Given the description of an element on the screen output the (x, y) to click on. 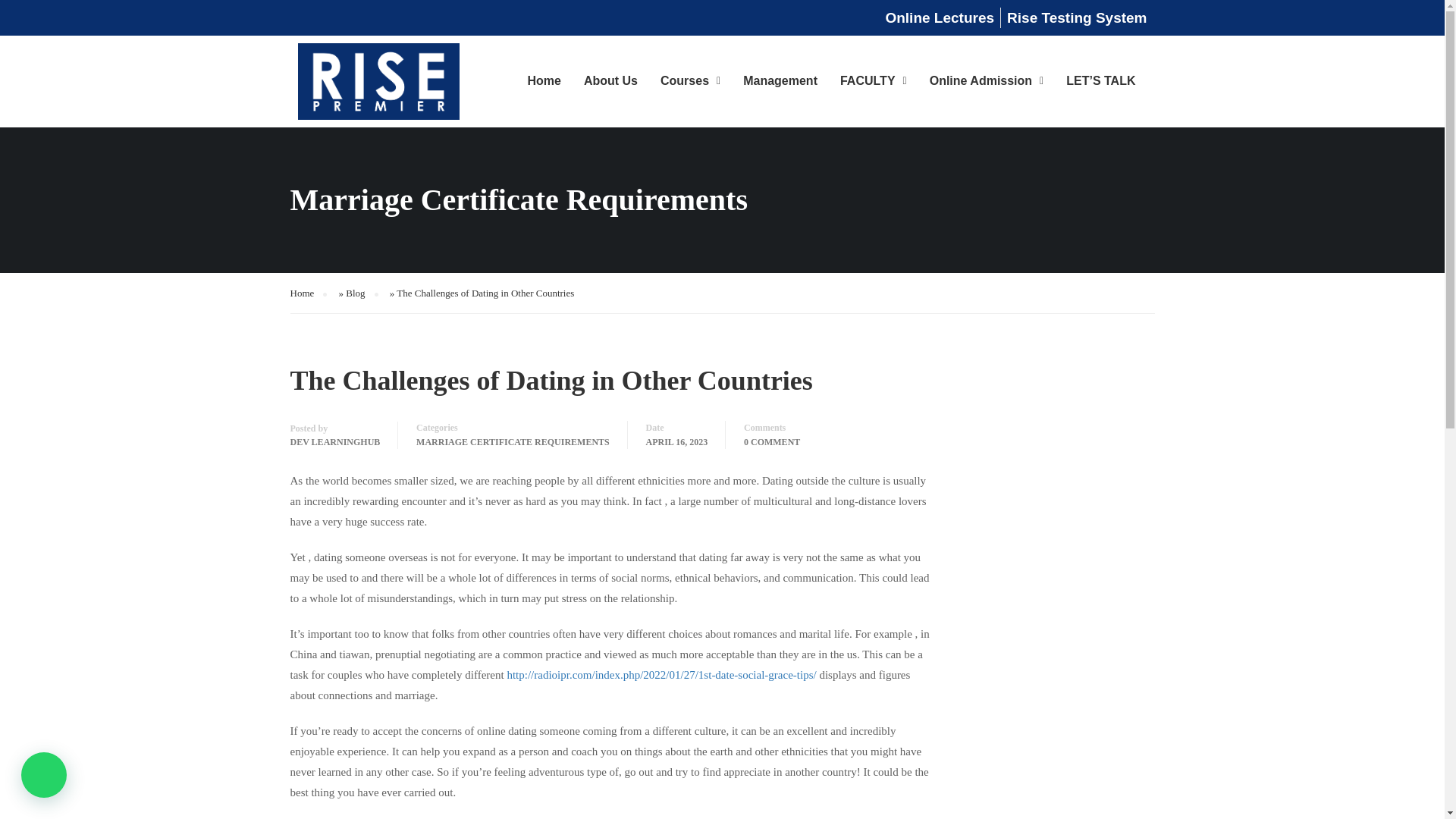
Courses (690, 80)
MARRIAGE CERTIFICATE REQUIREMENTS (513, 441)
Home (543, 80)
DEV LEARNINGHUB (334, 441)
Online Lectures (939, 17)
FACULTY (873, 80)
Rise Testing System (1077, 17)
0 COMMENT (771, 441)
Management (780, 80)
Online Admission (986, 80)
Home (307, 292)
About Us (610, 80)
Blog (361, 292)
